Given the description of an element on the screen output the (x, y) to click on. 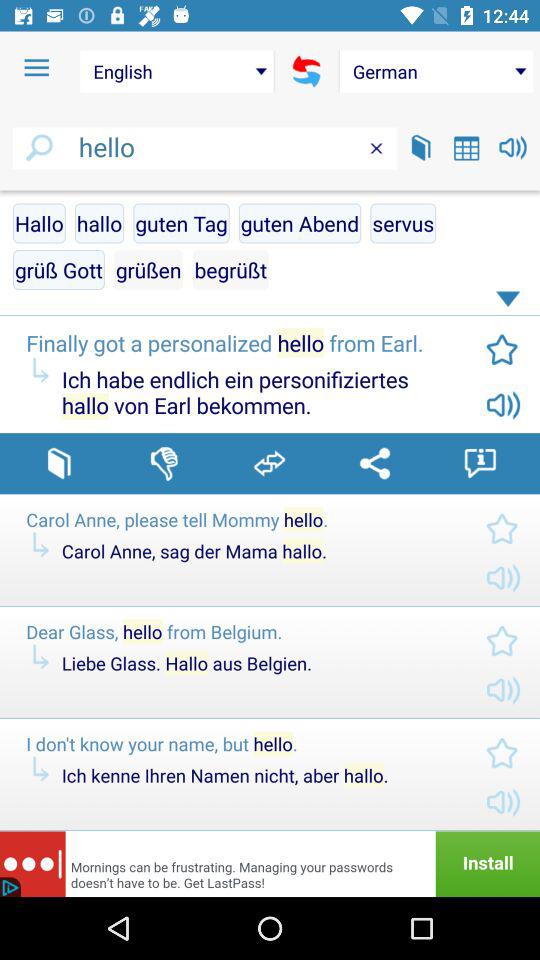
react i do n't like it (163, 463)
